Given the description of an element on the screen output the (x, y) to click on. 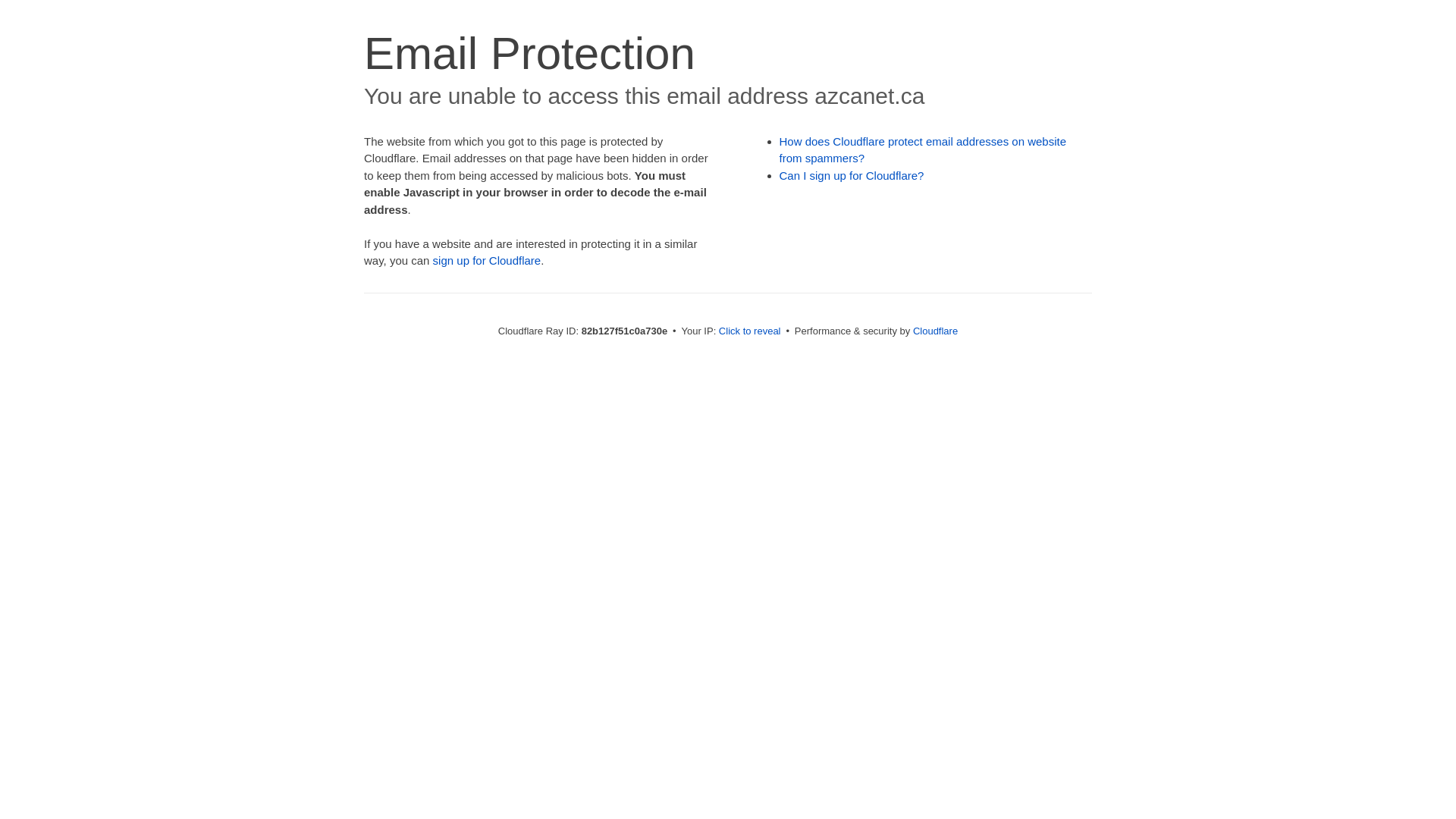
Can I sign up for Cloudflare? Element type: text (851, 175)
sign up for Cloudflare Element type: text (487, 260)
Click to reveal Element type: text (749, 330)
Cloudflare Element type: text (935, 330)
